Given the description of an element on the screen output the (x, y) to click on. 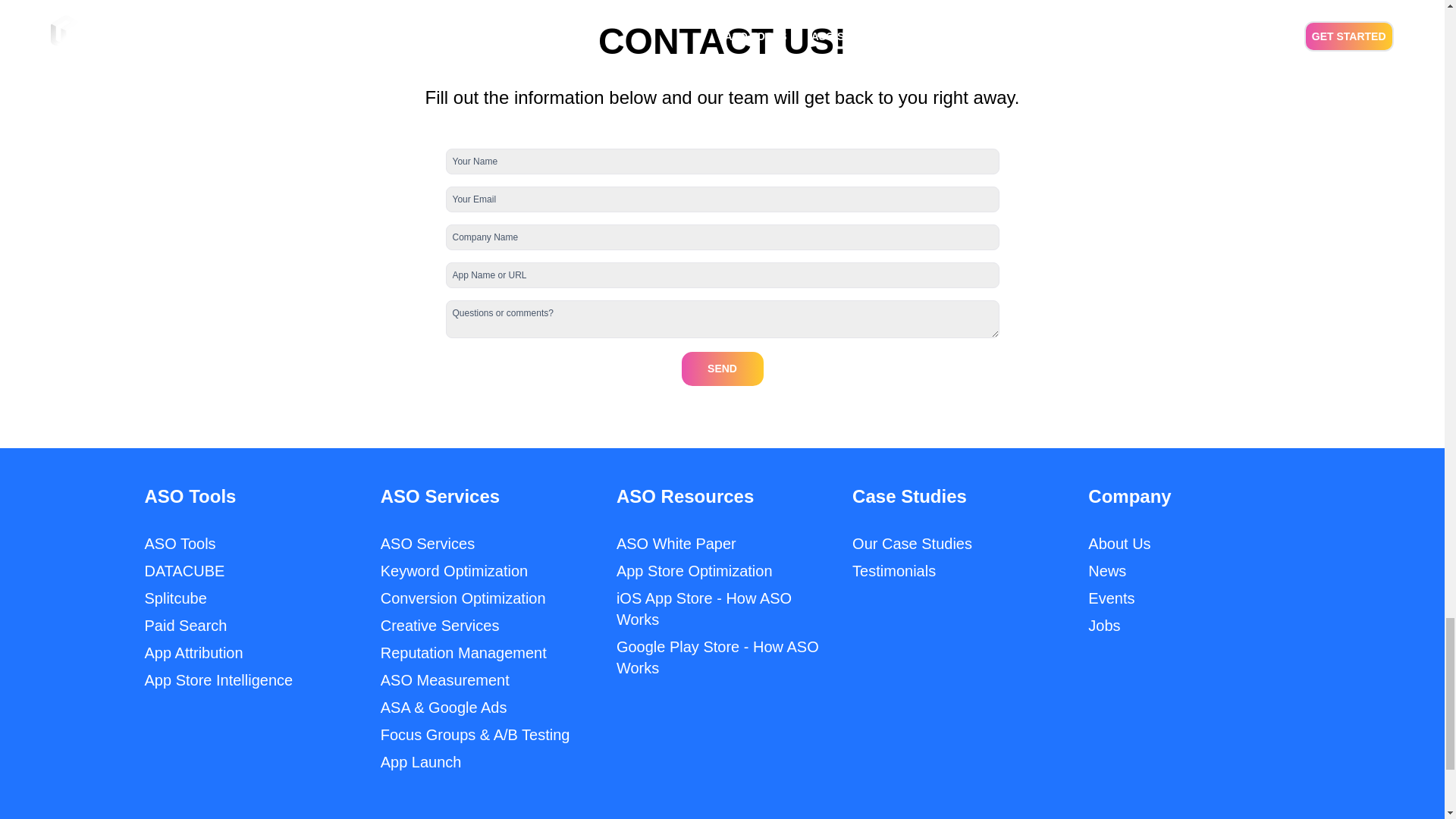
DATACUBE (184, 570)
ASO Tools (179, 543)
Keyword Optimization (454, 570)
SEND (721, 368)
Splitcube (175, 597)
Conversion Optimization (463, 597)
Paid Search (185, 625)
App Store Intelligence (218, 679)
App Attribution (193, 652)
ASO Services (427, 543)
